Given the description of an element on the screen output the (x, y) to click on. 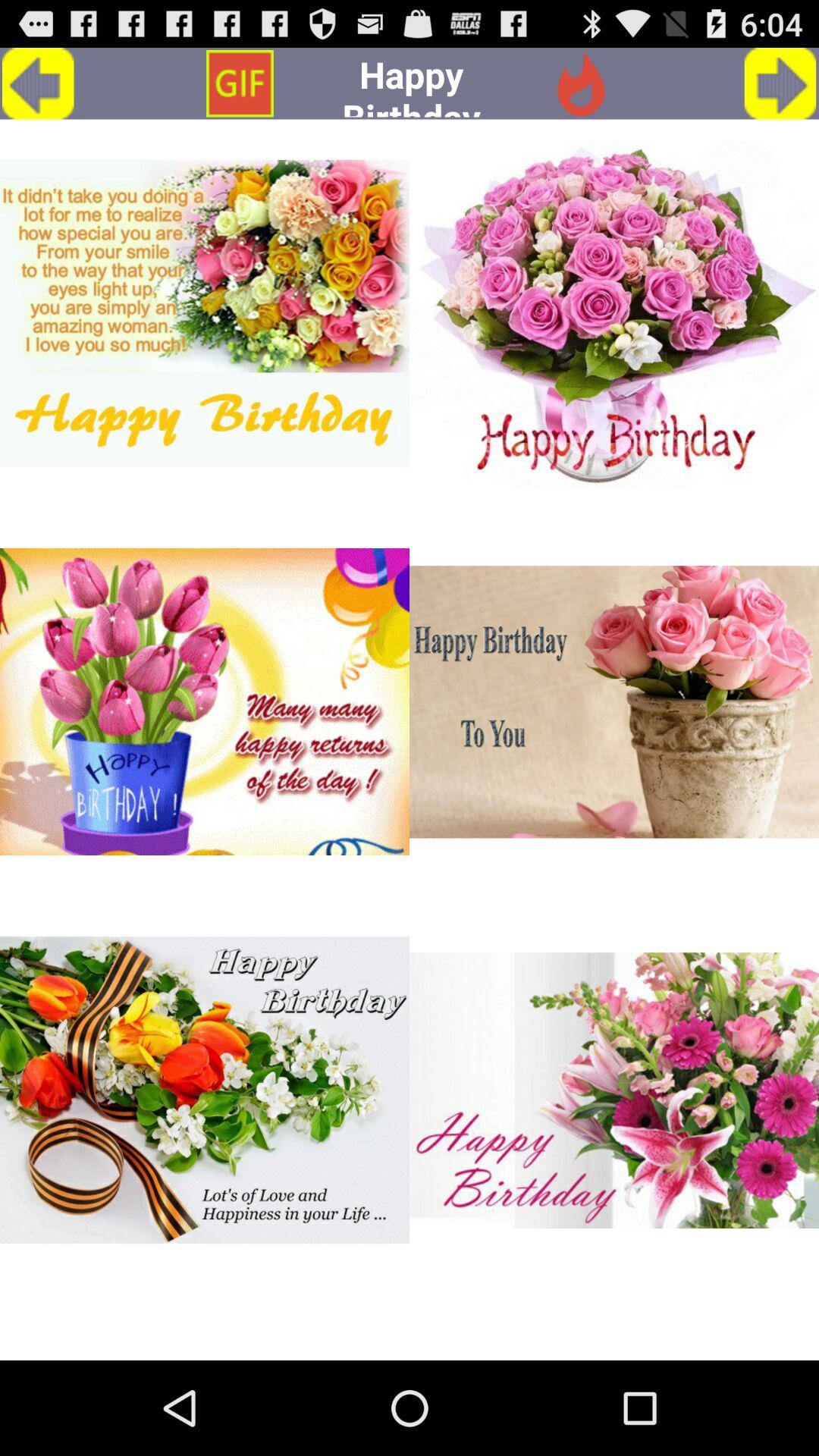
select a birthday card design (204, 313)
